Given the description of an element on the screen output the (x, y) to click on. 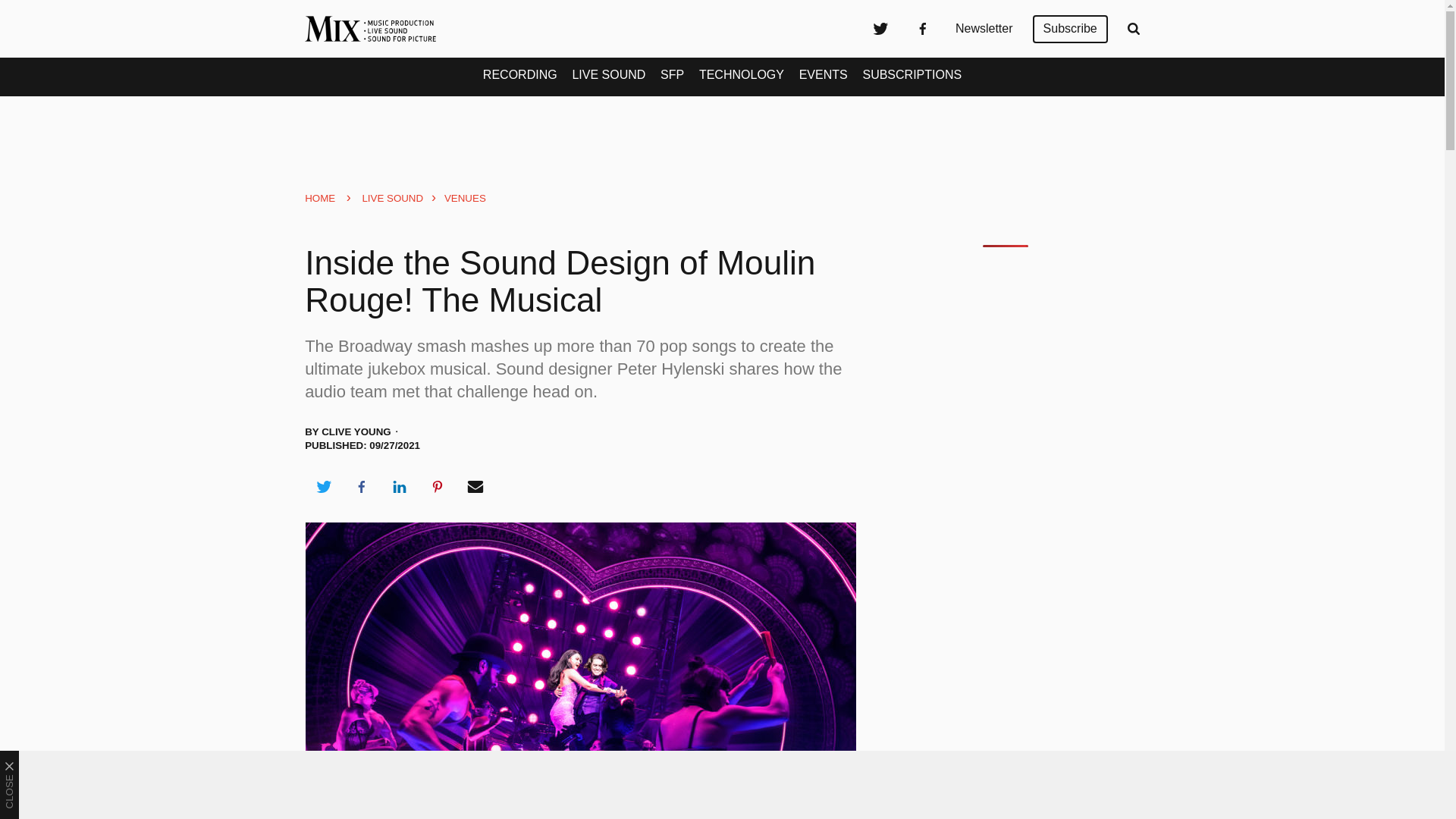
Share on Twitter (323, 486)
Share via Email (476, 486)
Share on LinkedIn (399, 486)
Share on Facebook (361, 486)
Share on Pinterest (438, 486)
